Given the description of an element on the screen output the (x, y) to click on. 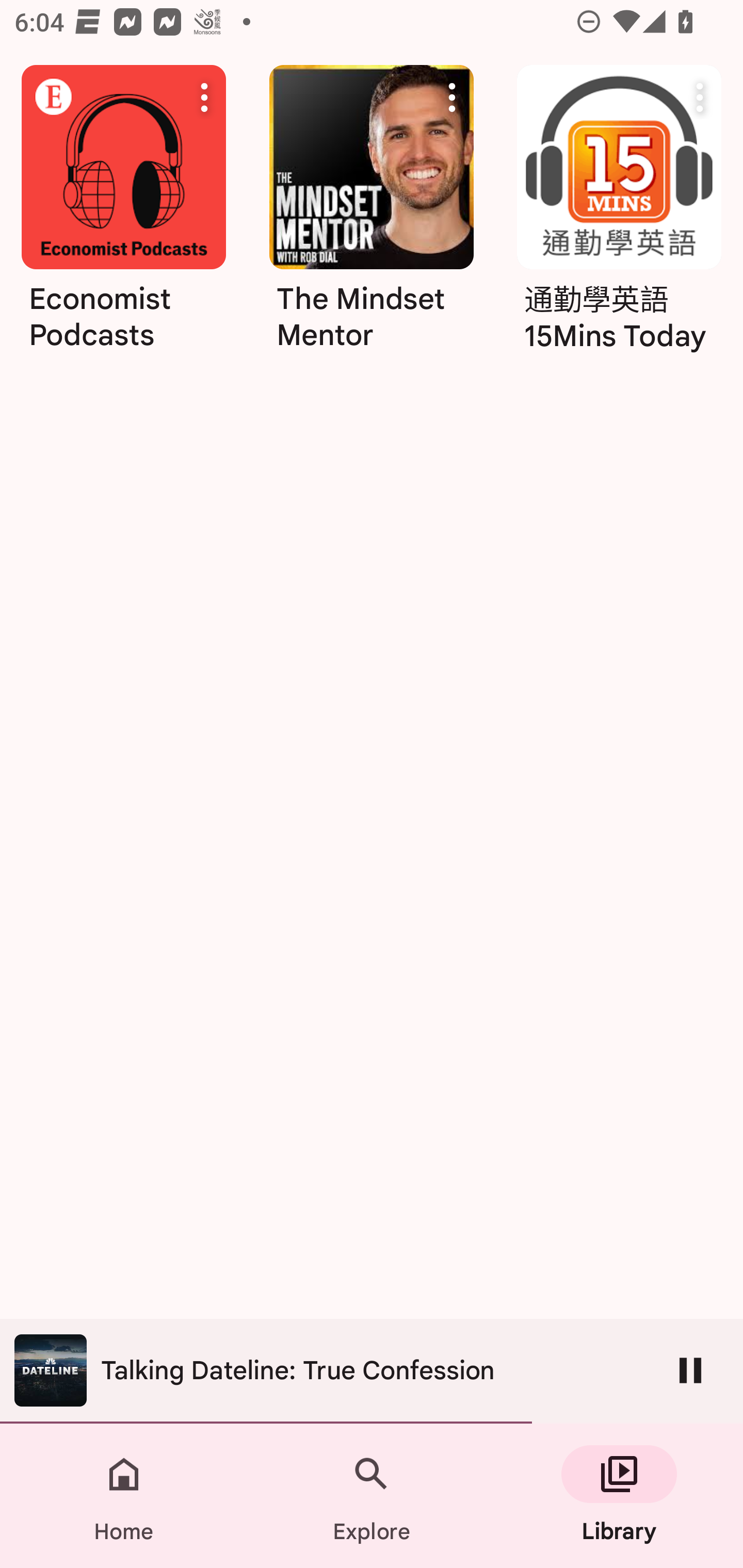
Economist Podcasts More actions Economist Podcasts (123, 267)
The Mindset Mentor More actions The Mindset Mentor (371, 214)
通勤學英語 15Mins Today More actions 通勤學英語 15Mins Today (619, 214)
More actions (203, 97)
More actions (452, 97)
More actions (699, 97)
Pause (690, 1370)
Home (123, 1495)
Explore (371, 1495)
